Given the description of an element on the screen output the (x, y) to click on. 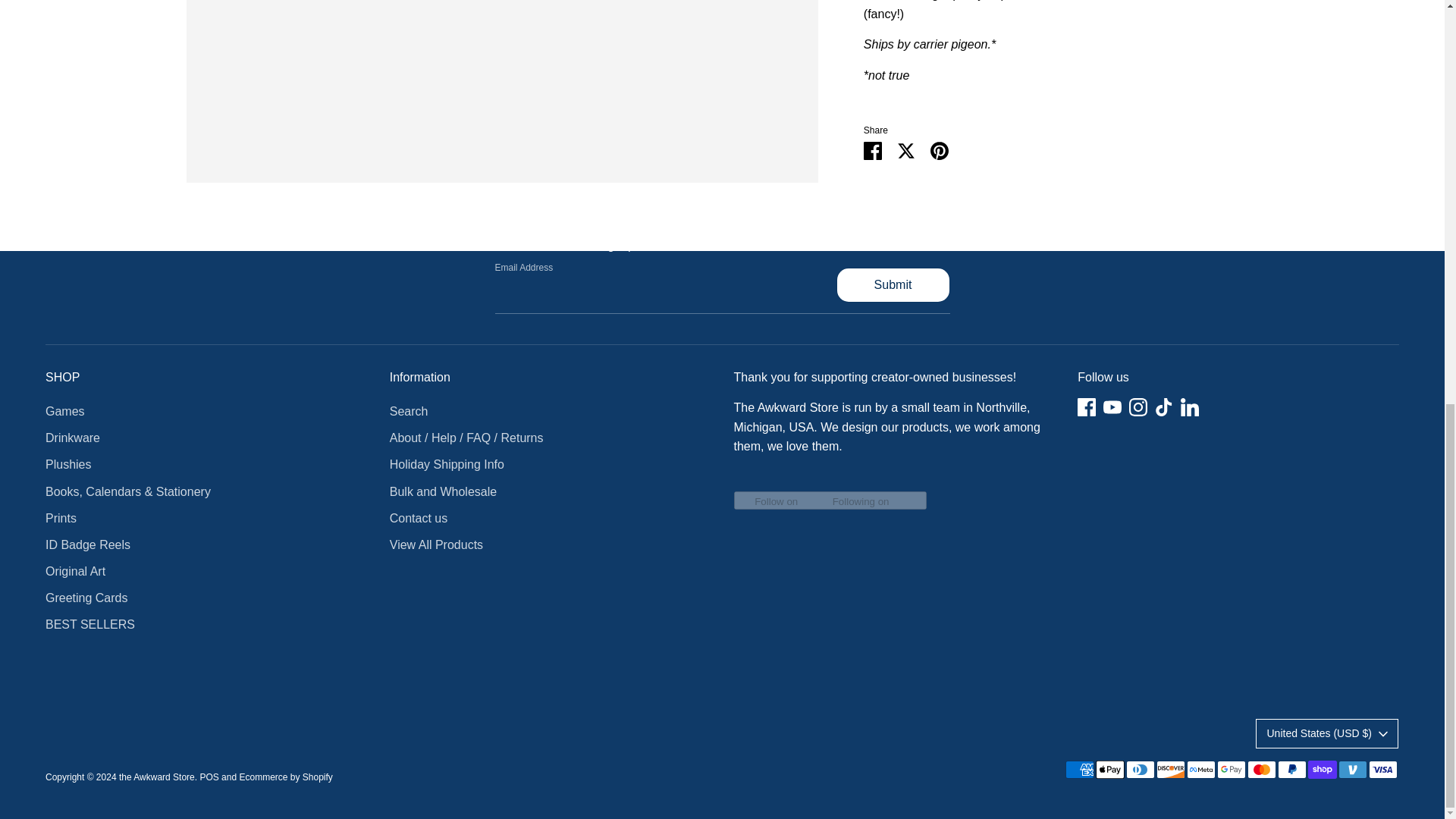
Apple Pay (1110, 769)
American Express (1079, 769)
